Given the description of an element on the screen output the (x, y) to click on. 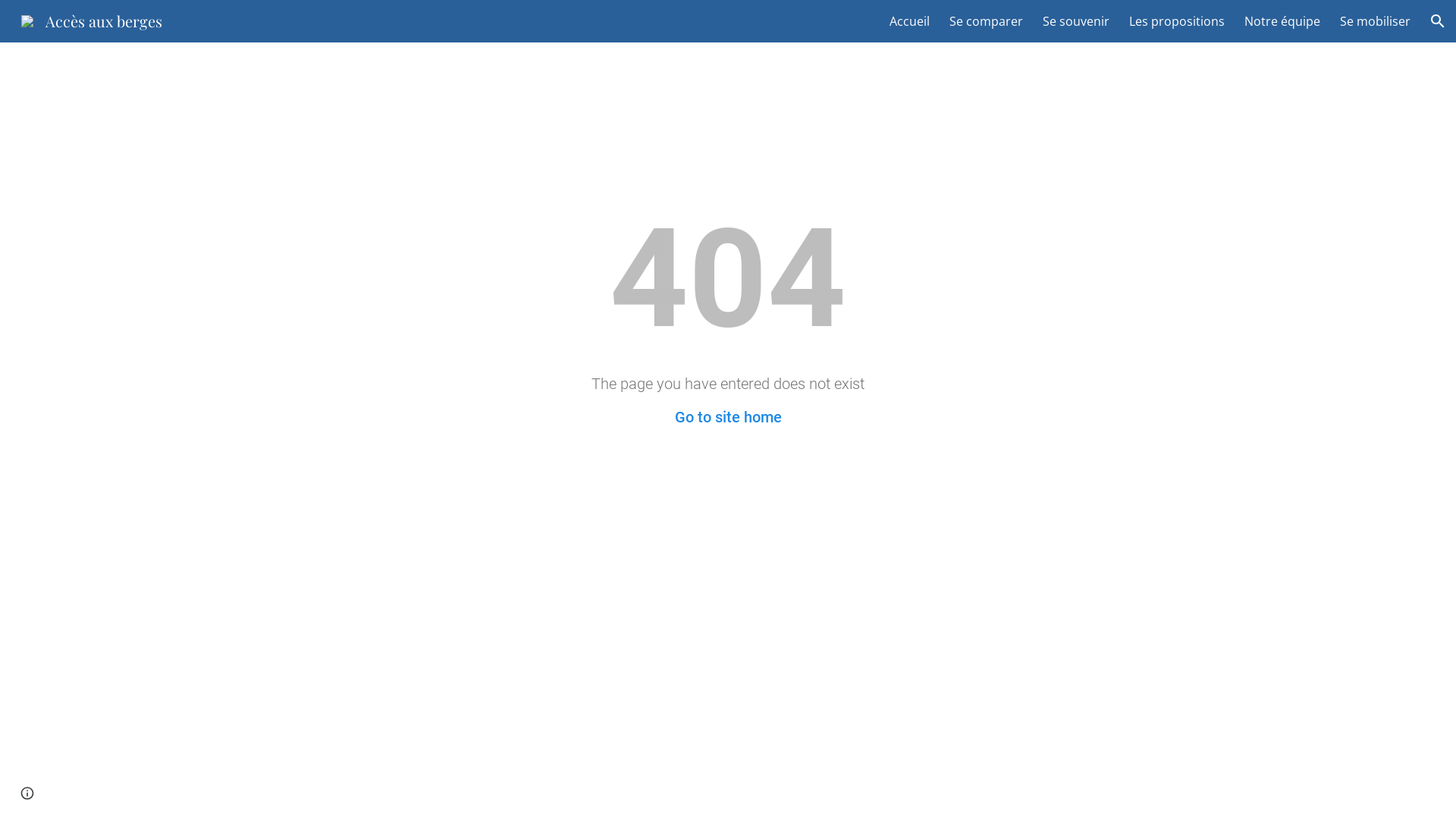
Accueil Element type: text (909, 20)
Go to site home Element type: text (727, 416)
Se mobiliser Element type: text (1374, 20)
Se souvenir Element type: text (1075, 20)
Se comparer Element type: text (985, 20)
Les propositions Element type: text (1176, 20)
